Given the description of an element on the screen output the (x, y) to click on. 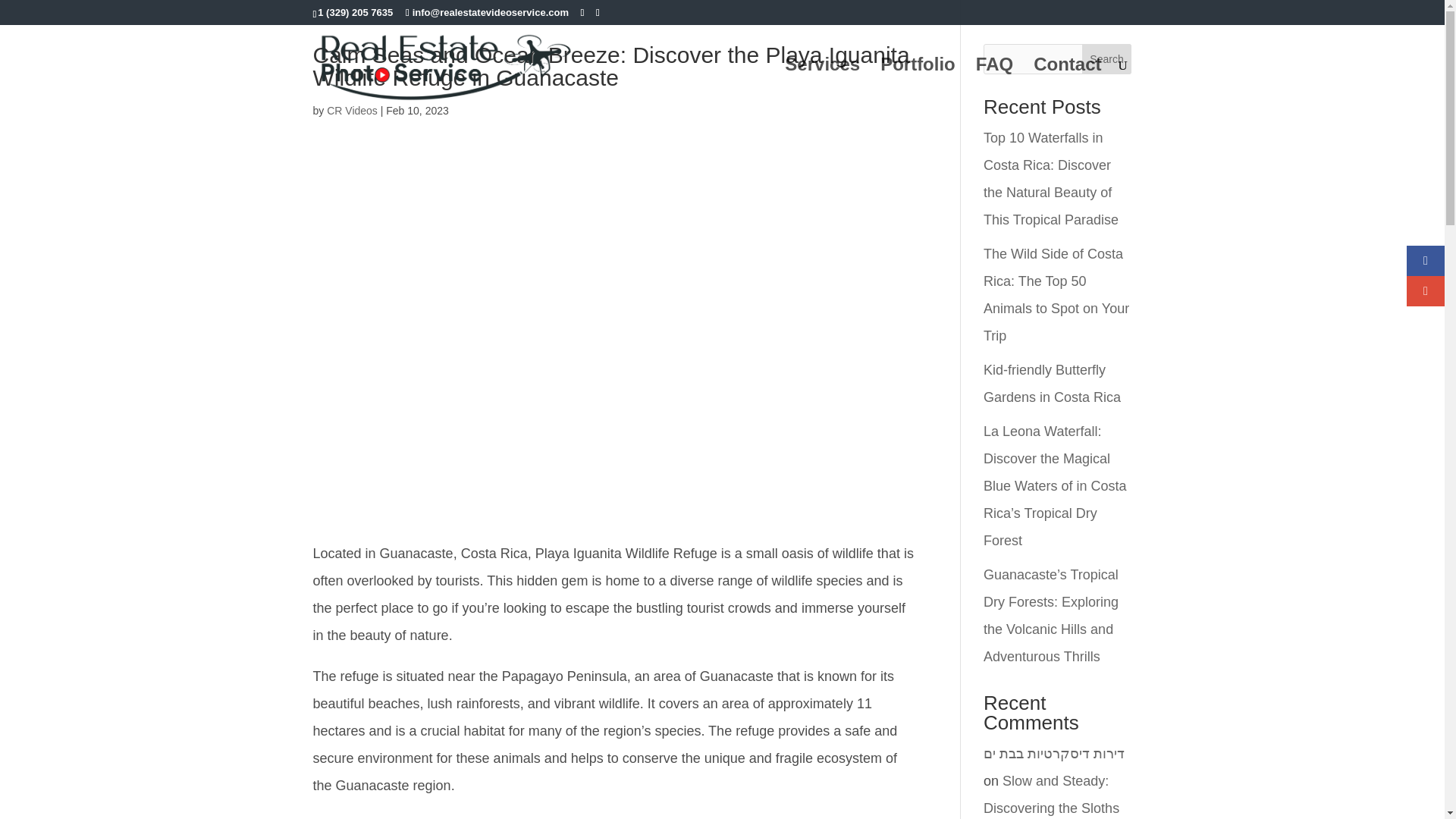
Kid-friendly Butterfly Gardens in Costa Rica (1052, 383)
Posts by CR Videos (351, 110)
Portfolio (917, 82)
Services (822, 82)
Search (1106, 59)
Slow and Steady: Discovering the Sloths of Costa Rica (1051, 796)
CR Videos (351, 110)
Contact (1066, 82)
